Given the description of an element on the screen output the (x, y) to click on. 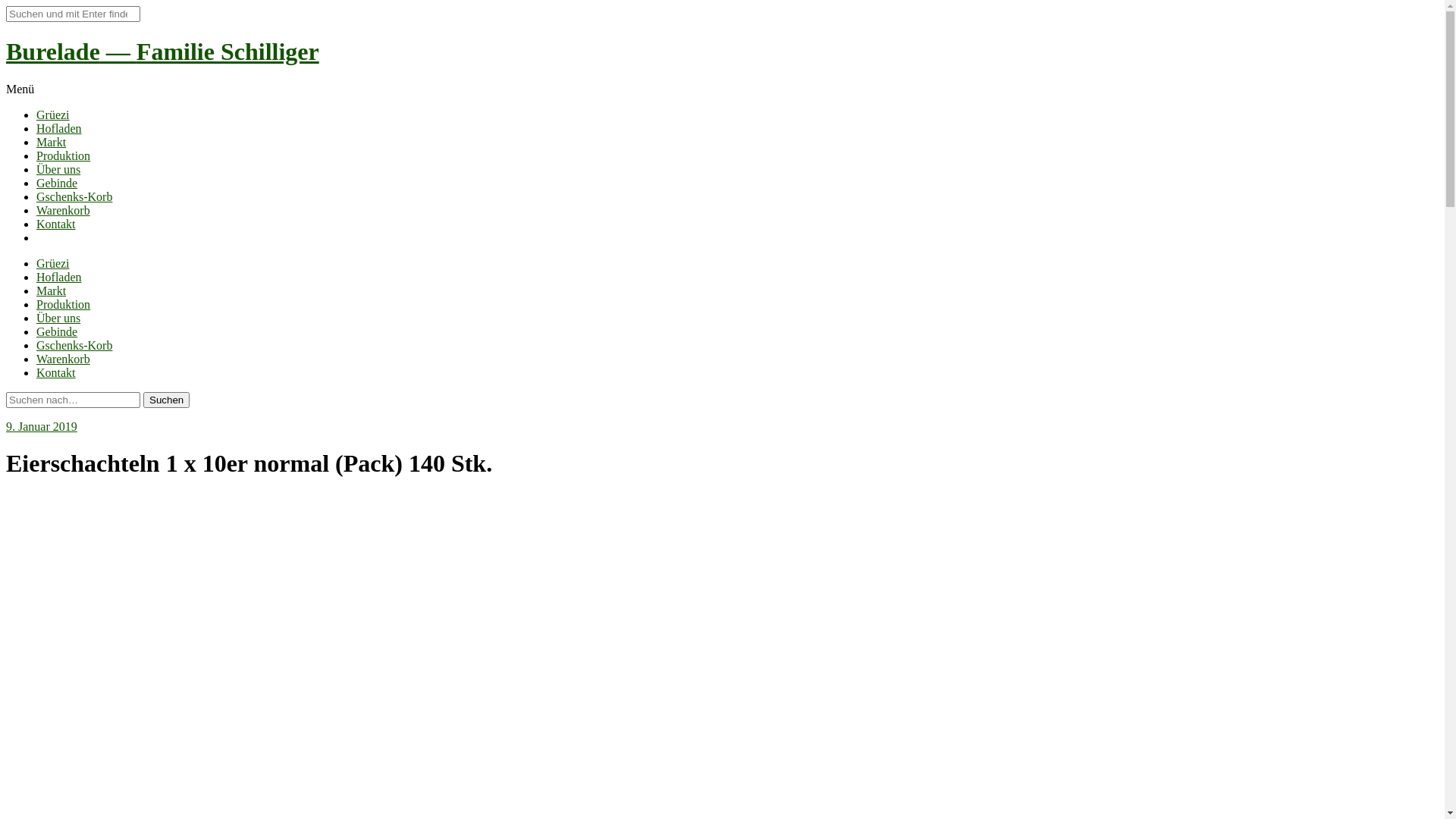
Markt Element type: text (50, 141)
Gschenks-Korb Element type: text (74, 344)
Gebinde Element type: text (56, 331)
Gschenks-Korb Element type: text (74, 196)
Warenkorb Element type: text (63, 358)
Hofladen Element type: text (58, 276)
Produktion Element type: text (63, 304)
9. Januar 2019 Element type: text (41, 426)
Kontakt Element type: text (55, 223)
Kontakt Element type: text (55, 372)
Gebinde Element type: text (56, 182)
Warenkorb Element type: text (63, 209)
Produktion Element type: text (63, 155)
Suchen Element type: text (166, 399)
Hofladen Element type: text (58, 128)
Markt Element type: text (50, 290)
